Given the description of an element on the screen output the (x, y) to click on. 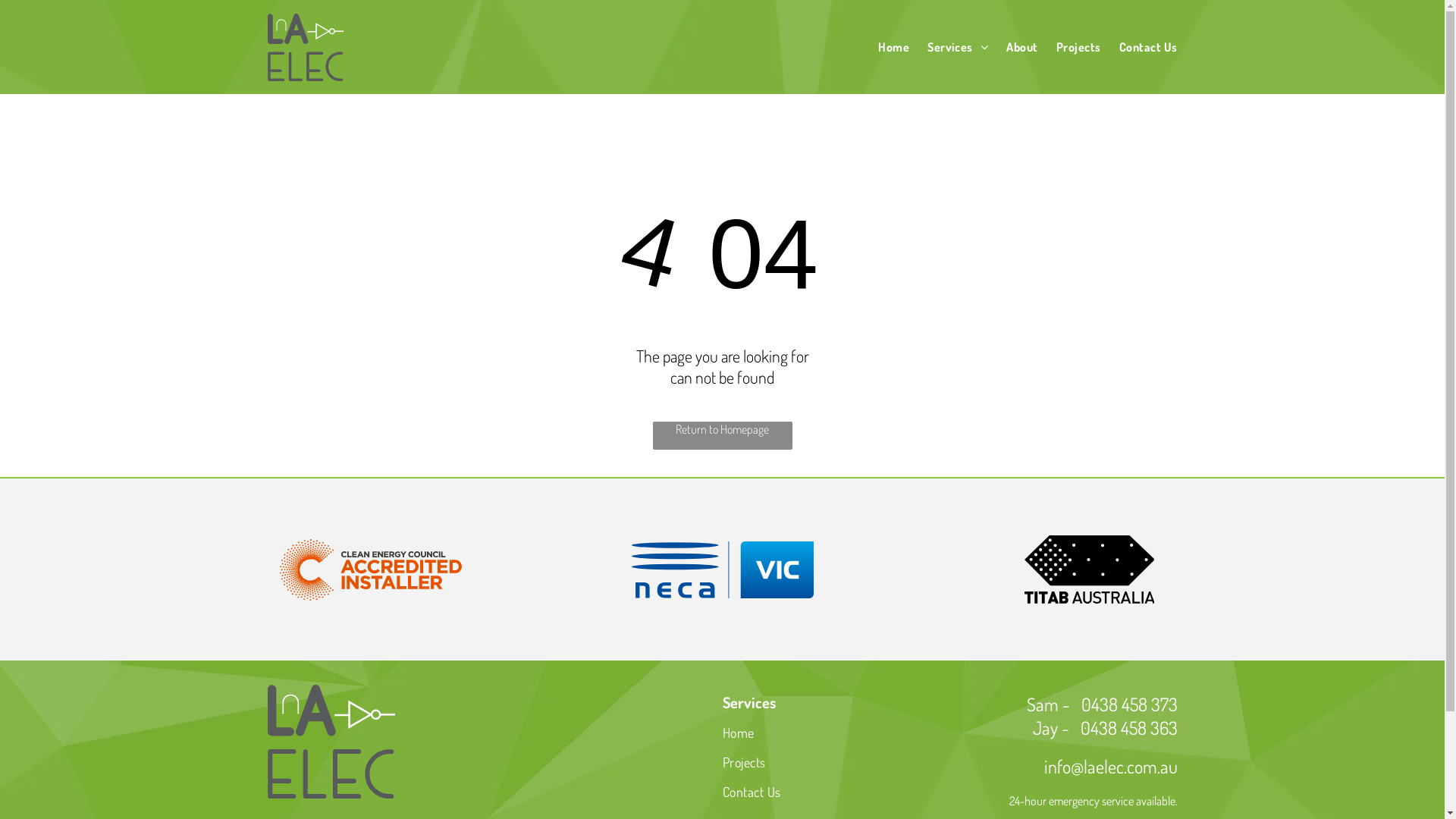
Contact Us Element type: text (1139, 46)
Contact Us Element type: text (835, 794)
Back to home page Element type: hover (304, 47)
Return to Homepage Element type: text (721, 435)
About Element type: text (1012, 46)
0438 458 363 Element type: text (1127, 727)
Clean Energy Council Accredited Installer Element type: hover (370, 569)
info@laelec.com.au Element type: text (1109, 766)
National Electrical and Communications Association Installer Element type: hover (721, 569)
Home Element type: text (835, 734)
Projects Element type: text (1069, 46)
Projects Element type: text (835, 764)
Home Element type: text (884, 46)
Titab Accredited Cabler in Ballarat Element type: hover (1088, 569)
0438 458 373 Element type: text (1129, 703)
Services Element type: text (948, 46)
